Given the description of an element on the screen output the (x, y) to click on. 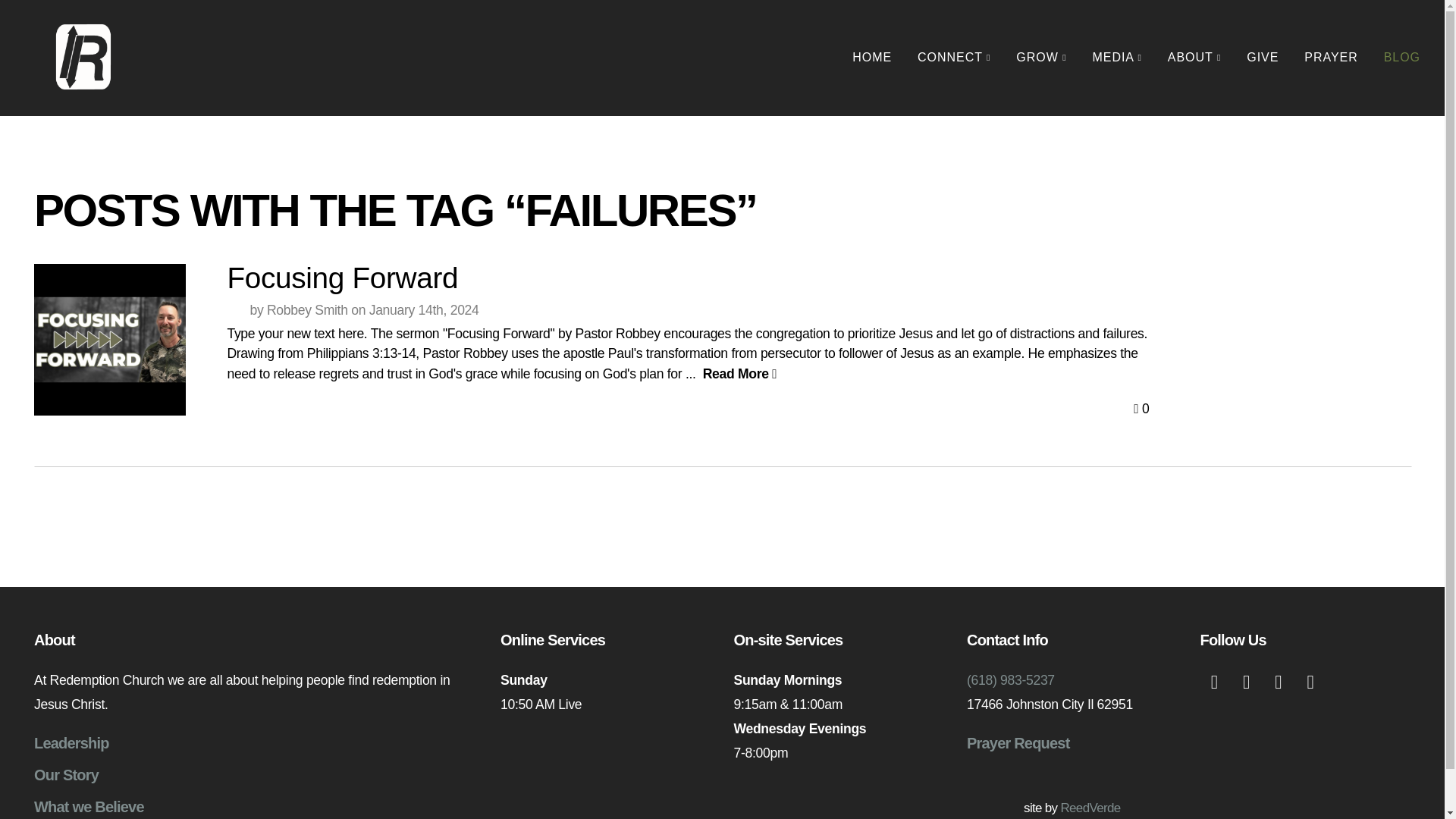
ABOUT  (1193, 57)
HOME (871, 57)
GIVE (1262, 57)
Our Story (66, 774)
CONNECT  (953, 57)
GROW  (1040, 57)
Leadership (71, 742)
BLOG (1402, 57)
MEDIA  (1117, 57)
PRAYER (1330, 57)
